Given the description of an element on the screen output the (x, y) to click on. 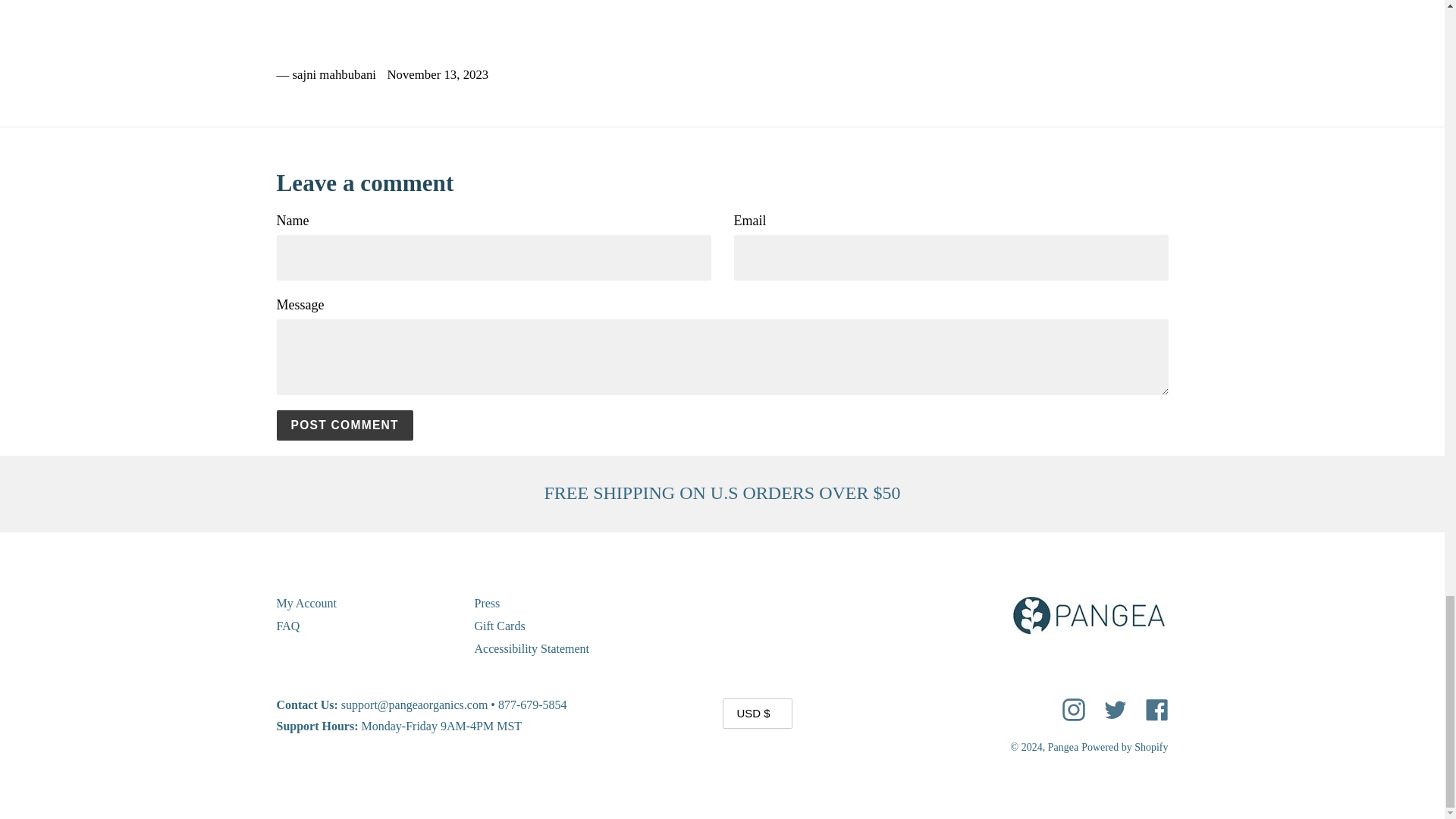
Post comment (344, 425)
